Given the description of an element on the screen output the (x, y) to click on. 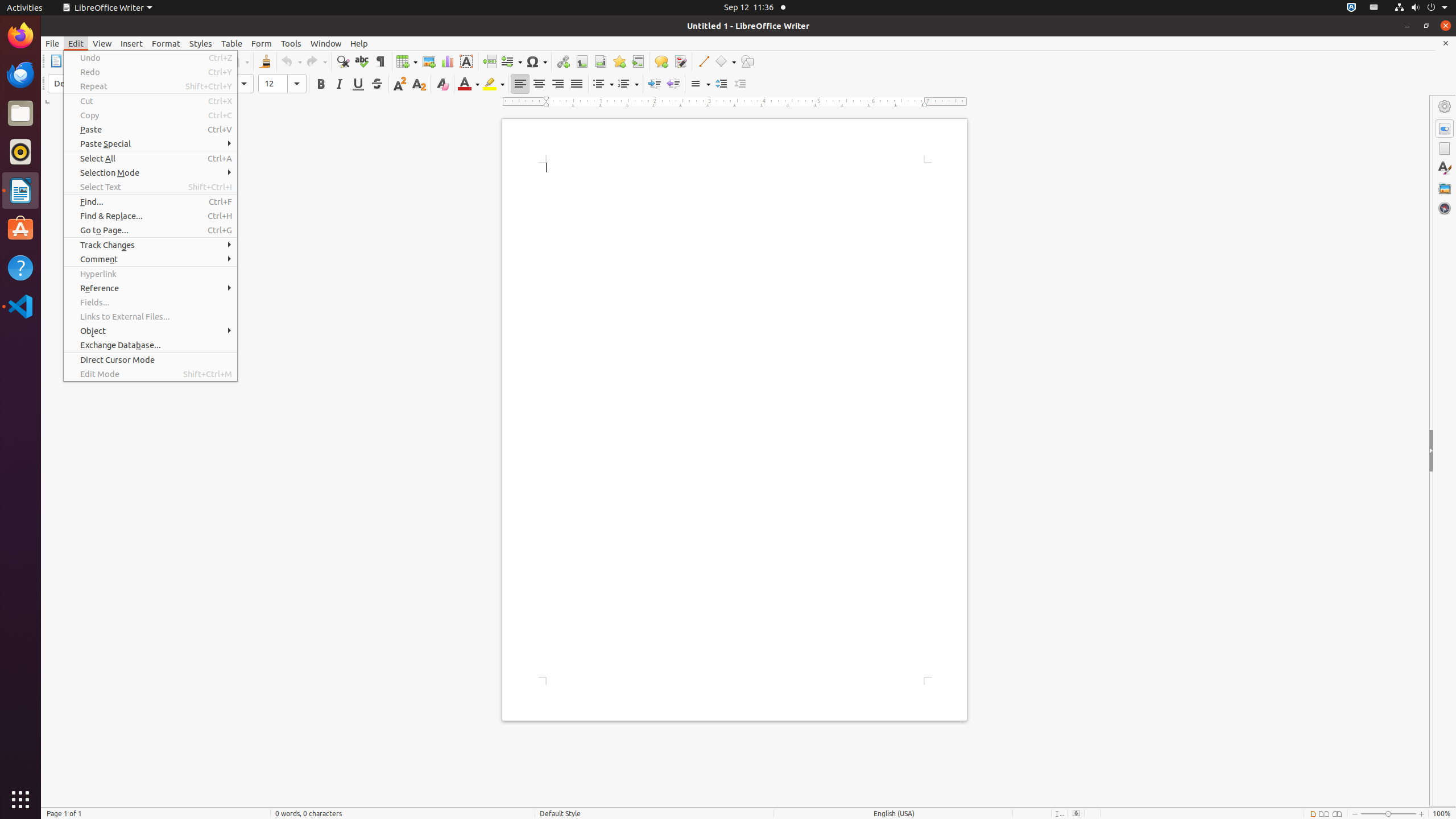
Object Element type: menu (150, 330)
Field Element type: push-button (510, 61)
Font Size Element type: combo-box (282, 83)
Styles Element type: menu (200, 43)
Undo Element type: push-button (290, 61)
